Given the description of an element on the screen output the (x, y) to click on. 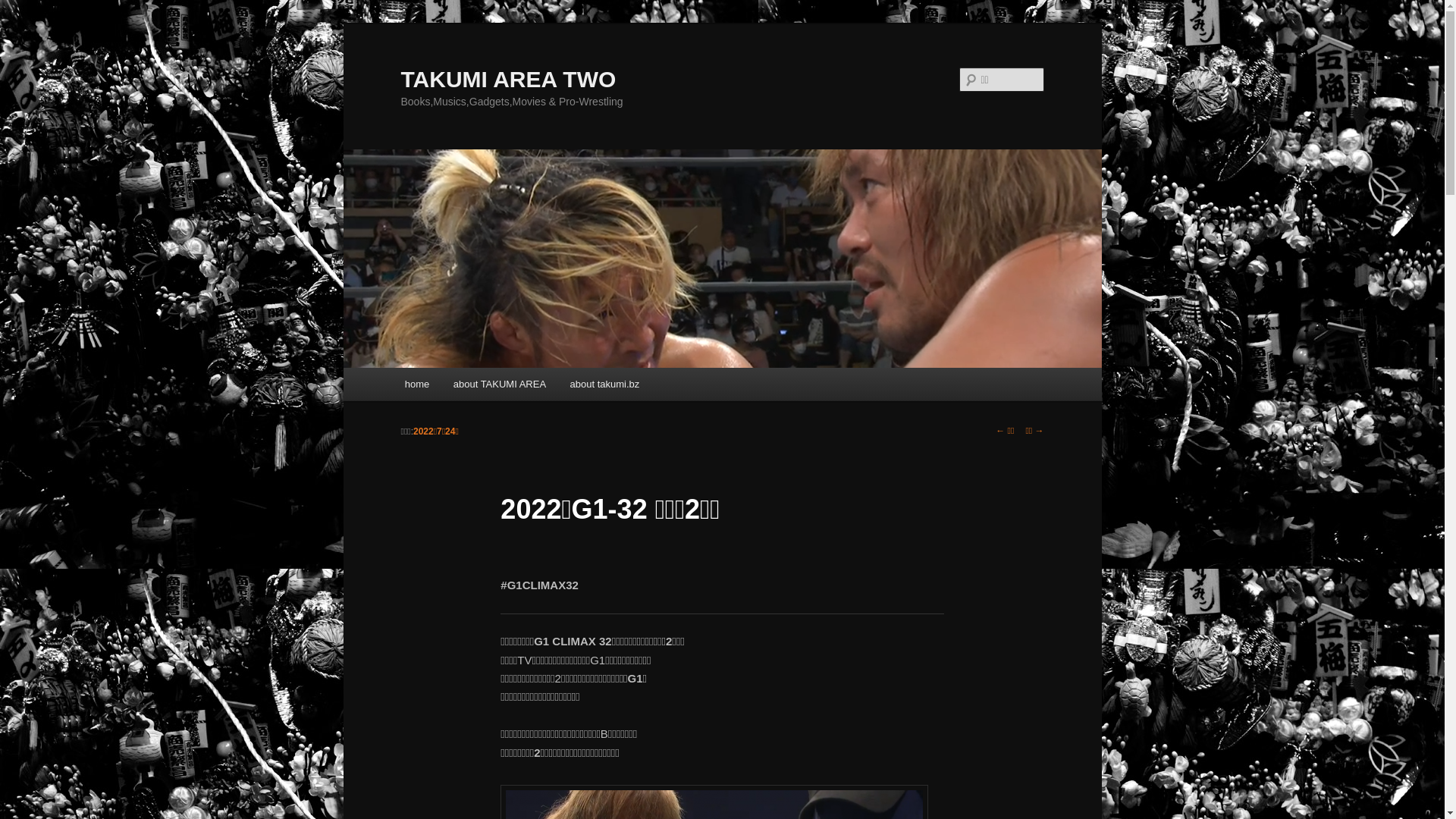
about takumi.bz Element type: text (604, 383)
TAKUMI AREA TWO Element type: text (507, 78)
tana_naito_6 Element type: hover (721, 258)
home Element type: text (416, 383)
about TAKUMI AREA Element type: text (499, 383)
